Given the description of an element on the screen output the (x, y) to click on. 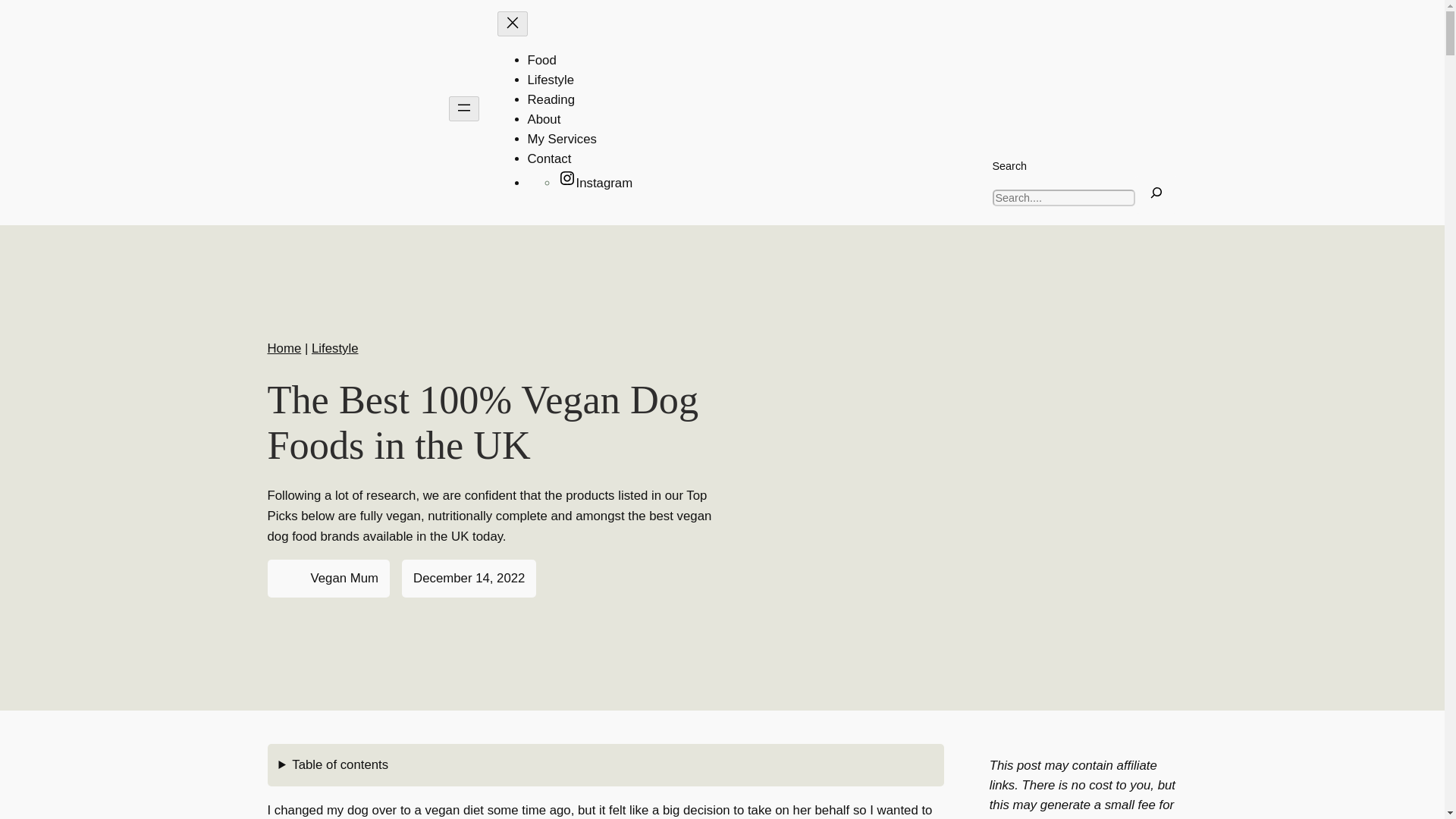
Home (283, 348)
My Services (561, 138)
About (543, 119)
Reading (551, 99)
Instagram (595, 183)
Contact (549, 158)
Lifestyle (334, 348)
Lifestyle (551, 79)
Food (541, 60)
